Given the description of an element on the screen output the (x, y) to click on. 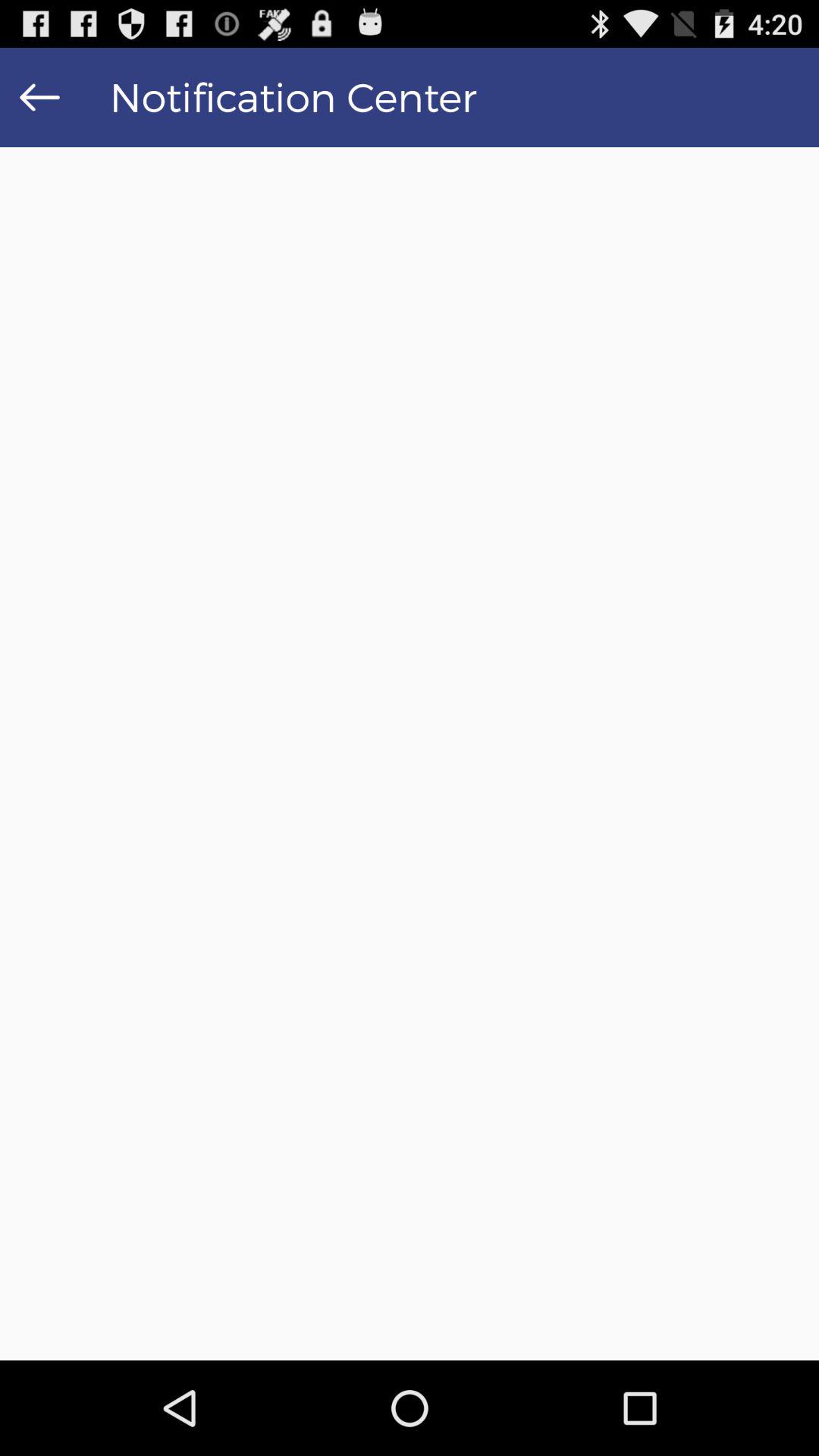
choose the item to the left of the notification center item (39, 97)
